Given the description of an element on the screen output the (x, y) to click on. 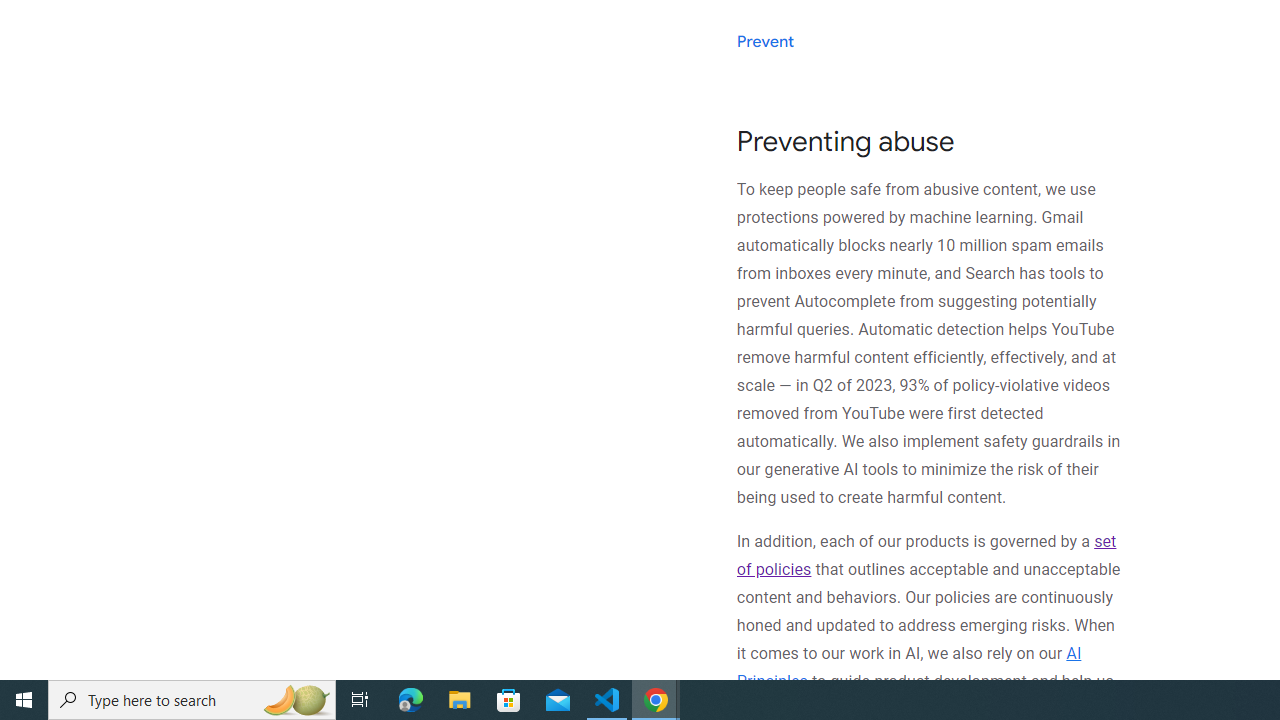
AI Principles (908, 667)
set of policies (926, 555)
